Given the description of an element on the screen output the (x, y) to click on. 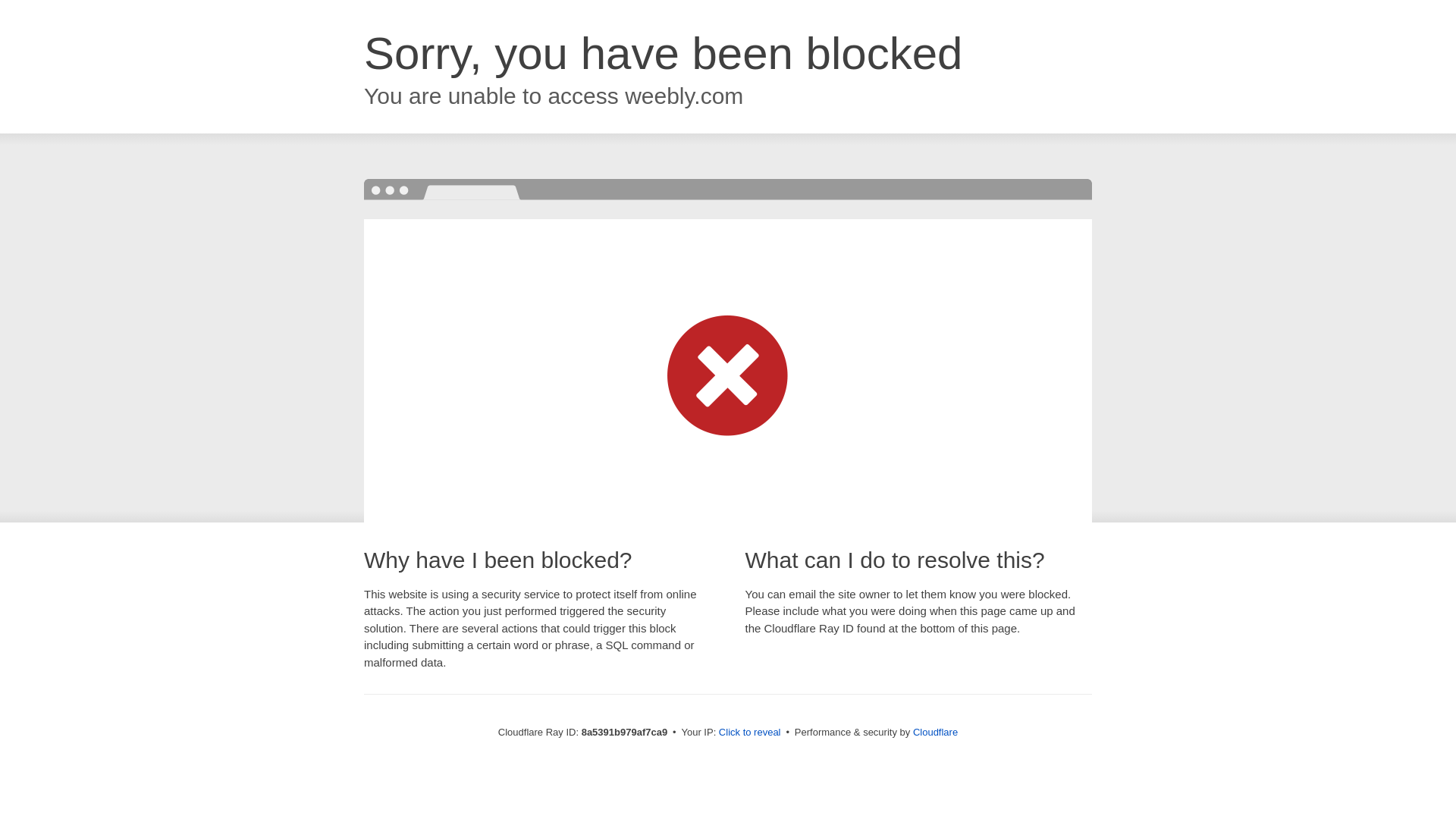
Cloudflare (935, 731)
Click to reveal (749, 732)
